Given the description of an element on the screen output the (x, y) to click on. 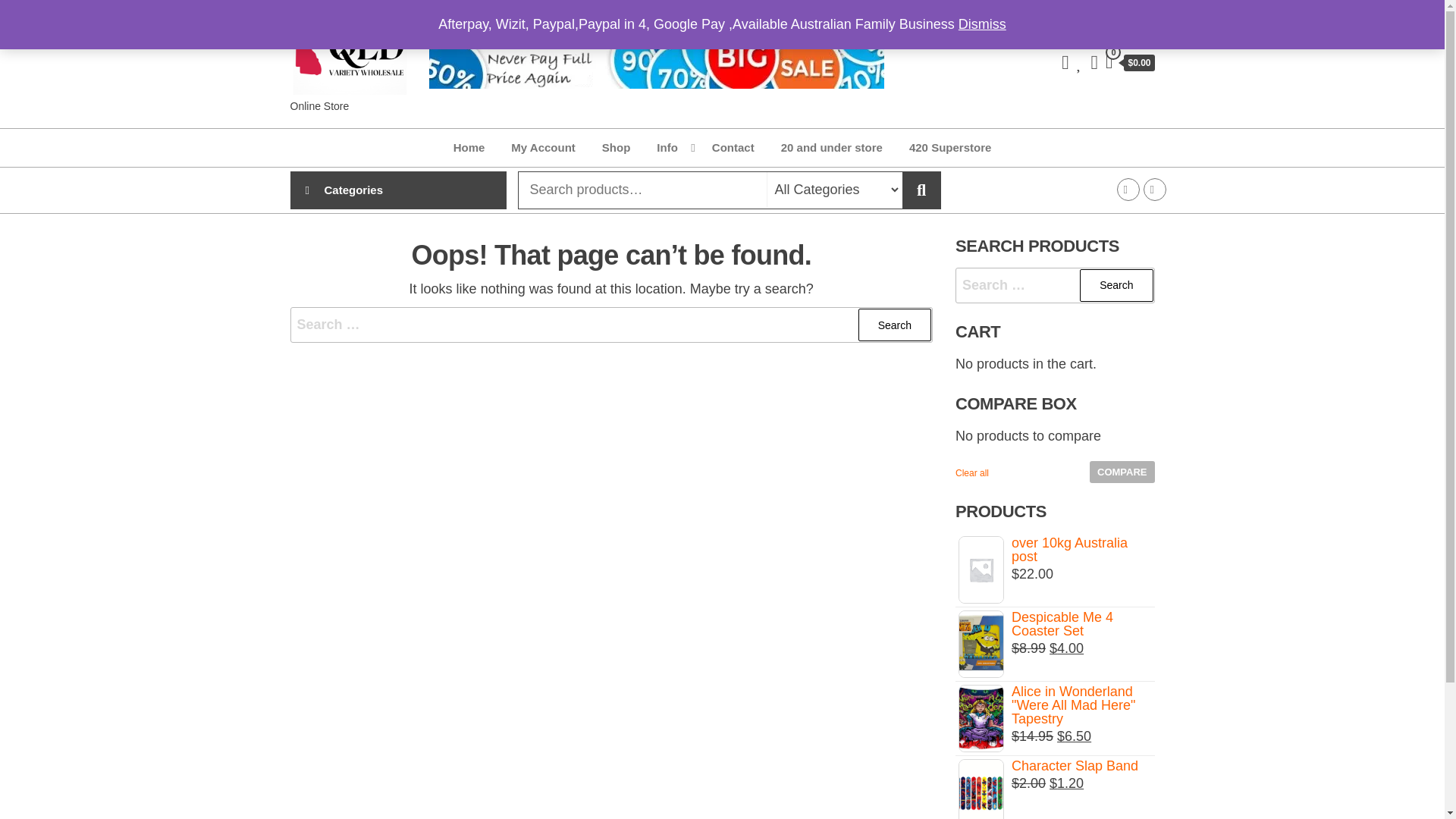
Contact (732, 147)
20 and under store (831, 147)
QLD Variety Wholesale (336, 128)
Search (895, 324)
Cart (1129, 63)
My Account (542, 147)
Info (671, 147)
Search (895, 324)
420 Superstore (950, 147)
Search (895, 324)
Home (469, 147)
My Account (542, 147)
Shop (616, 147)
Shop (616, 147)
Facebook (1127, 189)
